Given the description of an element on the screen output the (x, y) to click on. 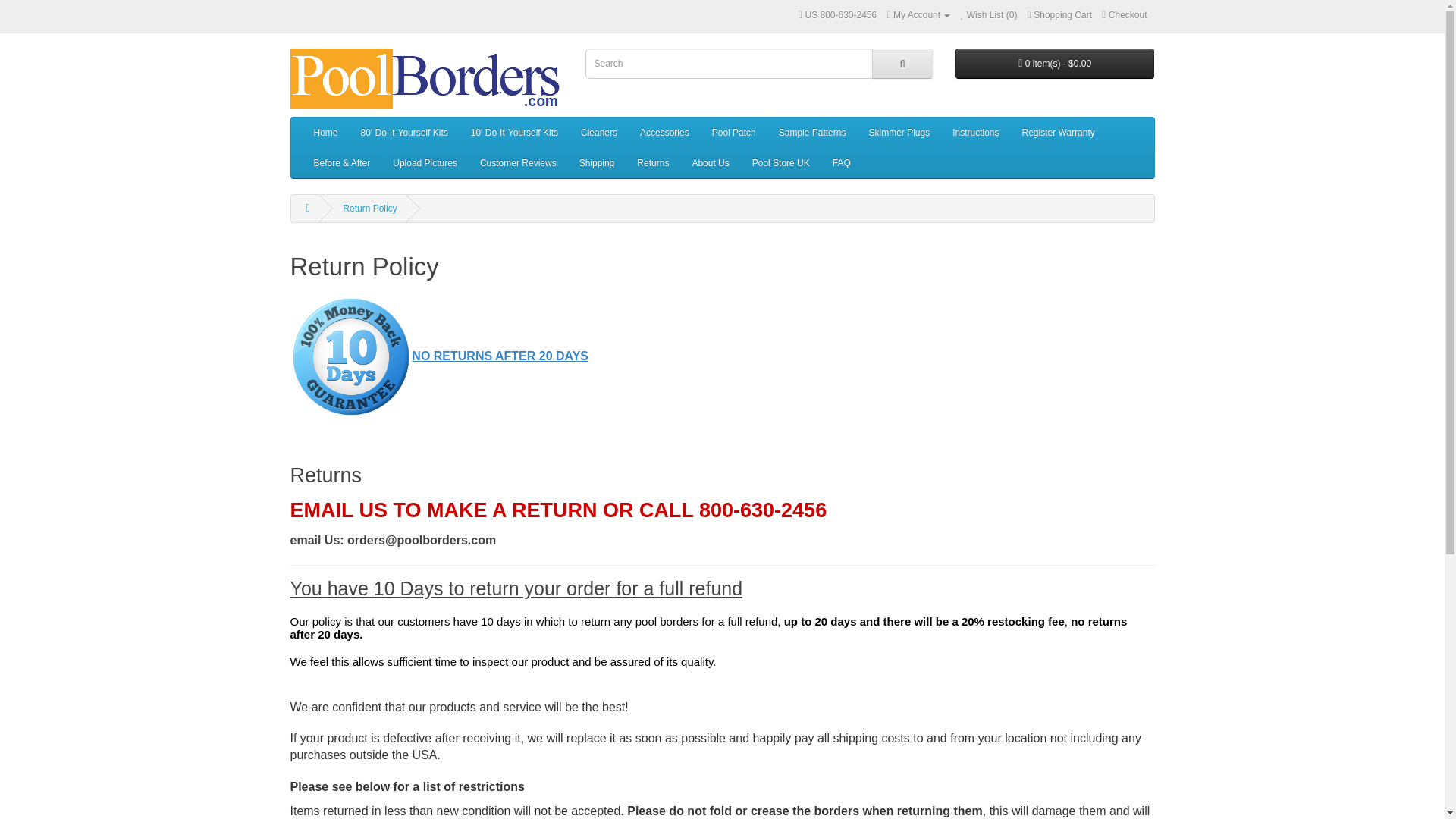
10' Do-It-Yourself Kits (514, 132)
Checkout (1124, 14)
Skimmer Plugs (898, 132)
My Account (918, 14)
Checkout (1124, 14)
Home (325, 132)
Pool Patch (733, 132)
About Us (709, 163)
My Account (918, 14)
Accessories (664, 132)
